Given the description of an element on the screen output the (x, y) to click on. 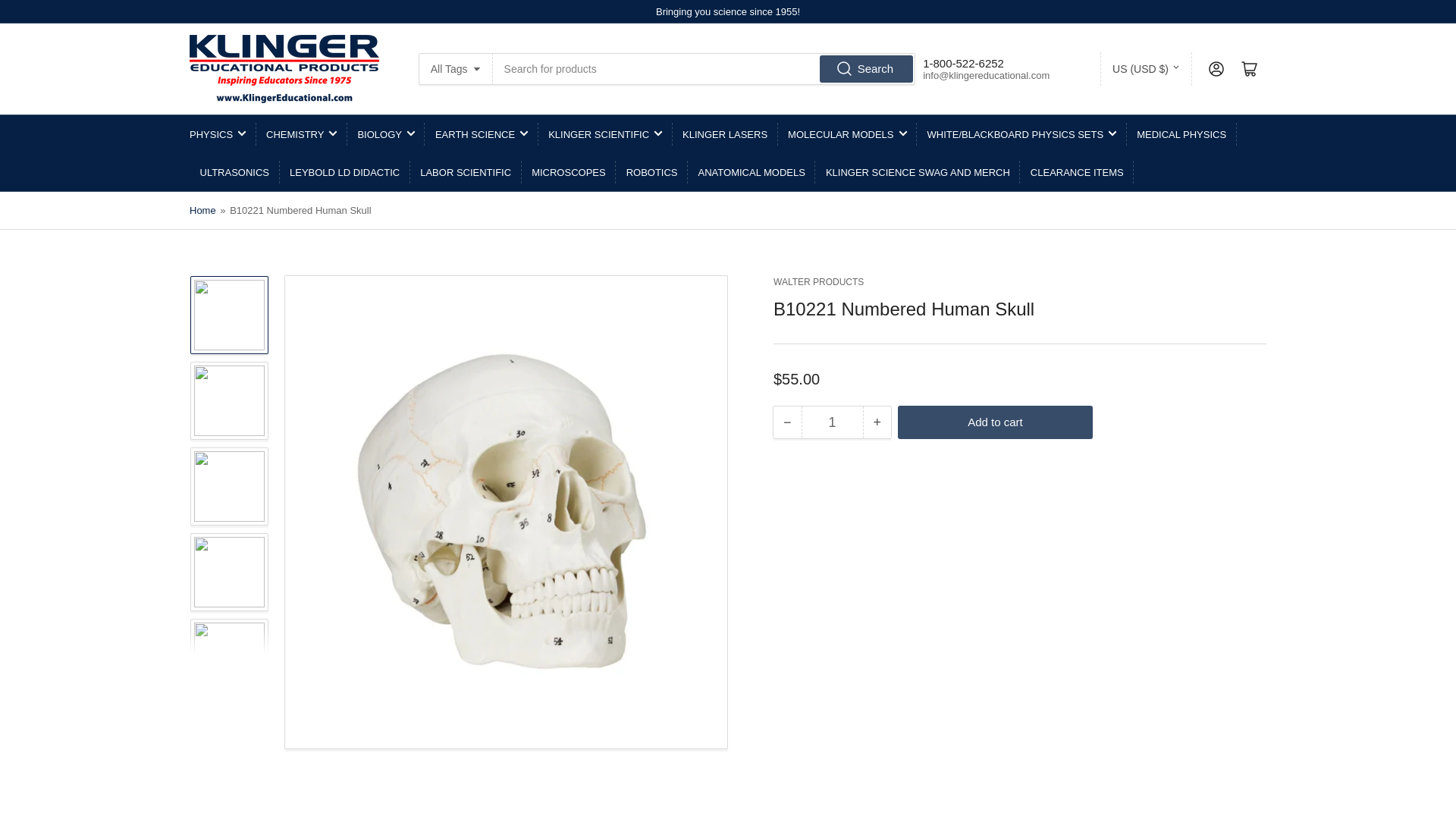
1 (831, 422)
Search (866, 68)
